Given the description of an element on the screen output the (x, y) to click on. 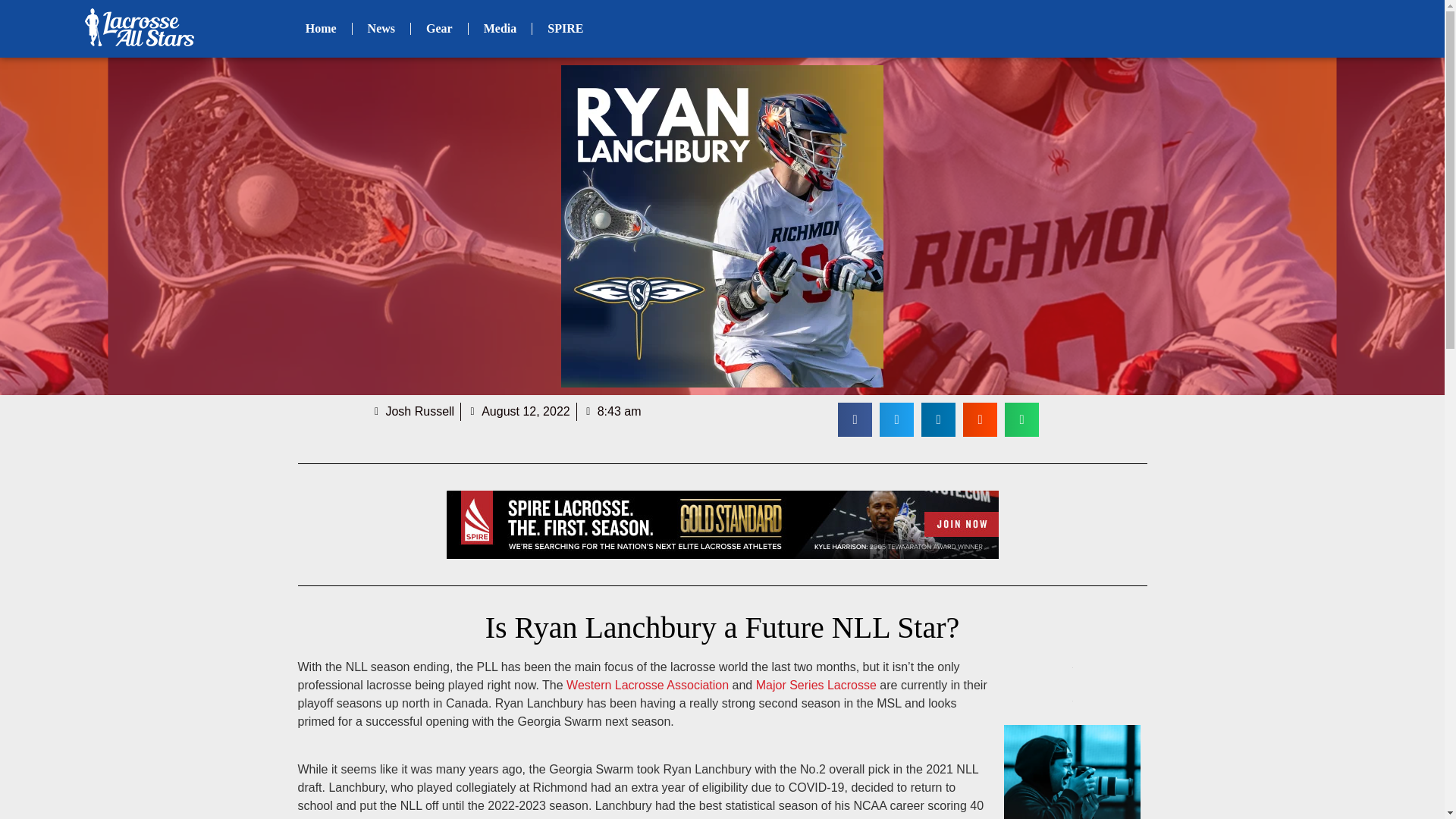
Major Series Lacrosse (815, 684)
Western Lacrosse Association (647, 684)
August 12, 2022 (518, 411)
Gear (438, 28)
SPIRE (565, 28)
News (381, 28)
Josh Russell (412, 411)
Media (500, 28)
Home (320, 28)
